Given the description of an element on the screen output the (x, y) to click on. 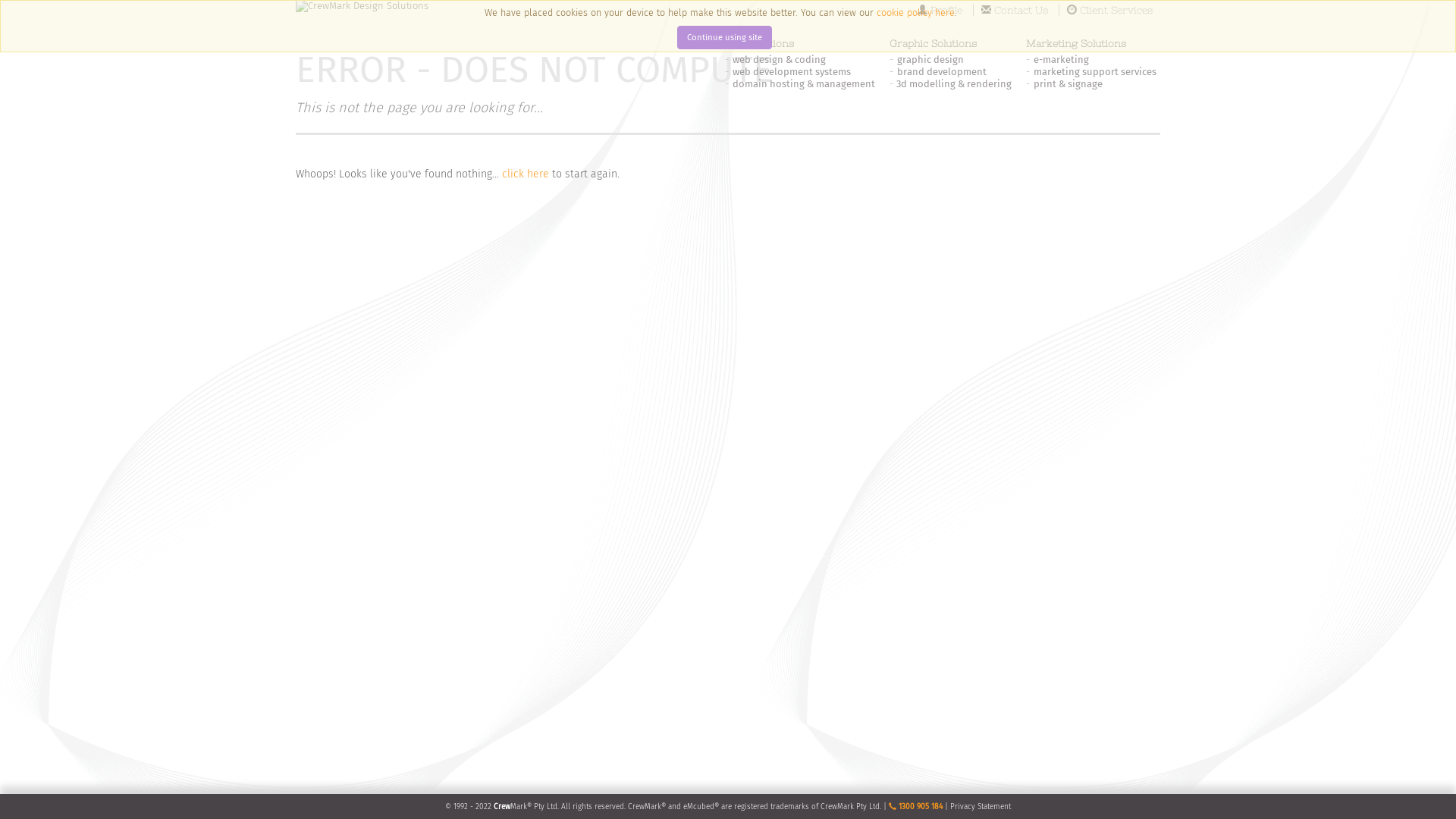
graphic design Element type: text (930, 59)
Continue using site Element type: text (723, 37)
1300 905 184 Element type: text (915, 806)
brand development Element type: text (941, 71)
web design & coding Element type: text (778, 59)
e-marketing Element type: text (1060, 59)
print & signage Element type: text (1067, 83)
3d modelling & rendering Element type: text (953, 83)
Profile Element type: text (939, 9)
marketing support services Element type: text (1094, 71)
web development systems Element type: text (791, 71)
cookie policy here Element type: text (915, 12)
click here Element type: text (525, 173)
Privacy Statement Element type: text (980, 806)
domain hosting & management Element type: text (803, 83)
Client Services Element type: text (1109, 9)
Contact Us Element type: text (1014, 9)
